Given the description of an element on the screen output the (x, y) to click on. 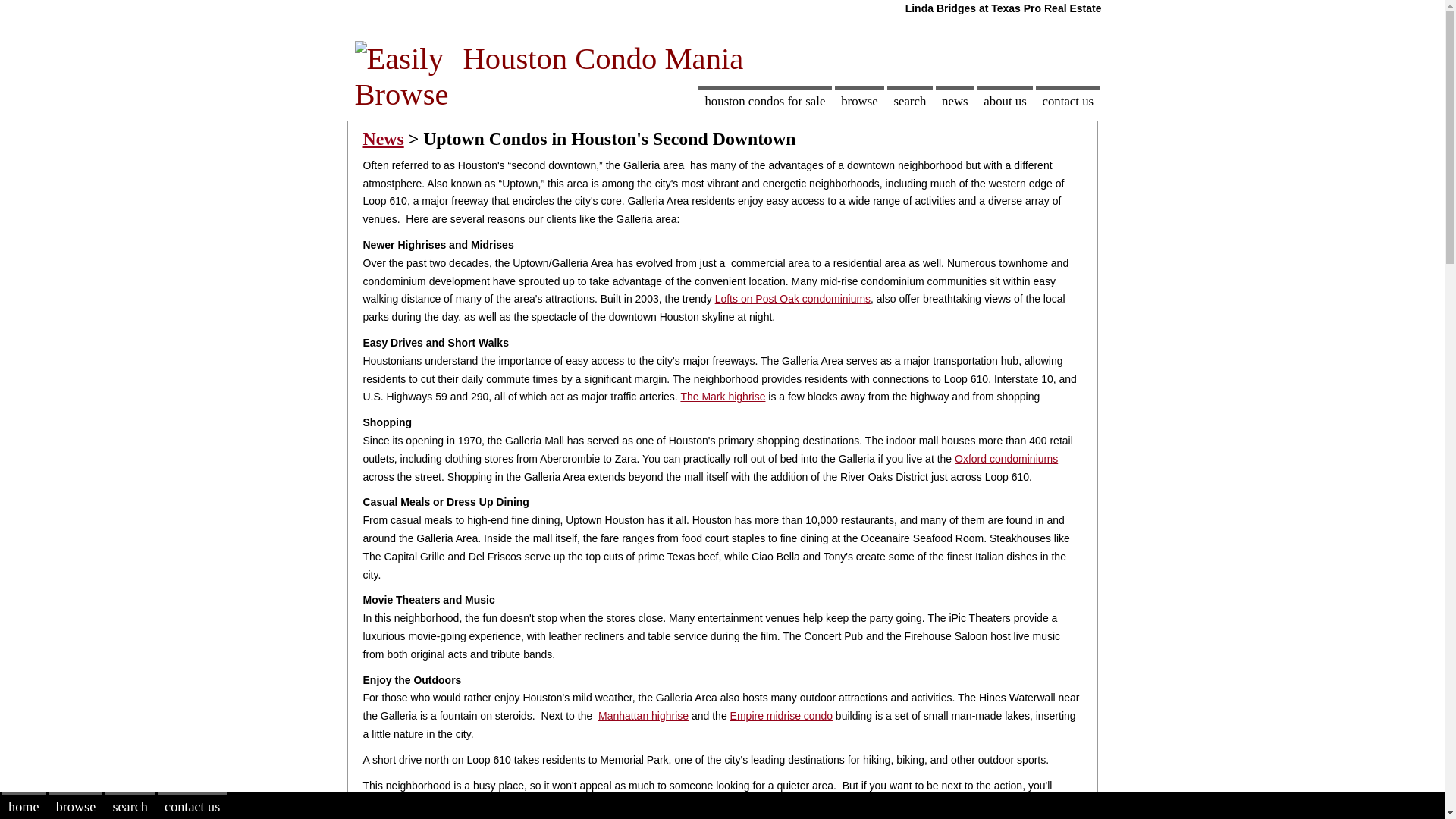
Houston Real Estate News (955, 99)
Browse Houston Condos For Sale (858, 99)
Houston Real Estate Agents (1004, 99)
When Ready, Contact Us! (1067, 99)
home (23, 805)
browse (76, 805)
Empire Mid-Rise Condos For Sale in Houston (781, 715)
The Mark highrise (722, 396)
Search Houston Condos For Sale (909, 99)
News (382, 138)
browse (858, 99)
houston condos for sale (764, 99)
contact us (1067, 99)
Oxford condominiums (1006, 458)
Lofts on Post Oak Condos For Sale (792, 298)
